Given the description of an element on the screen output the (x, y) to click on. 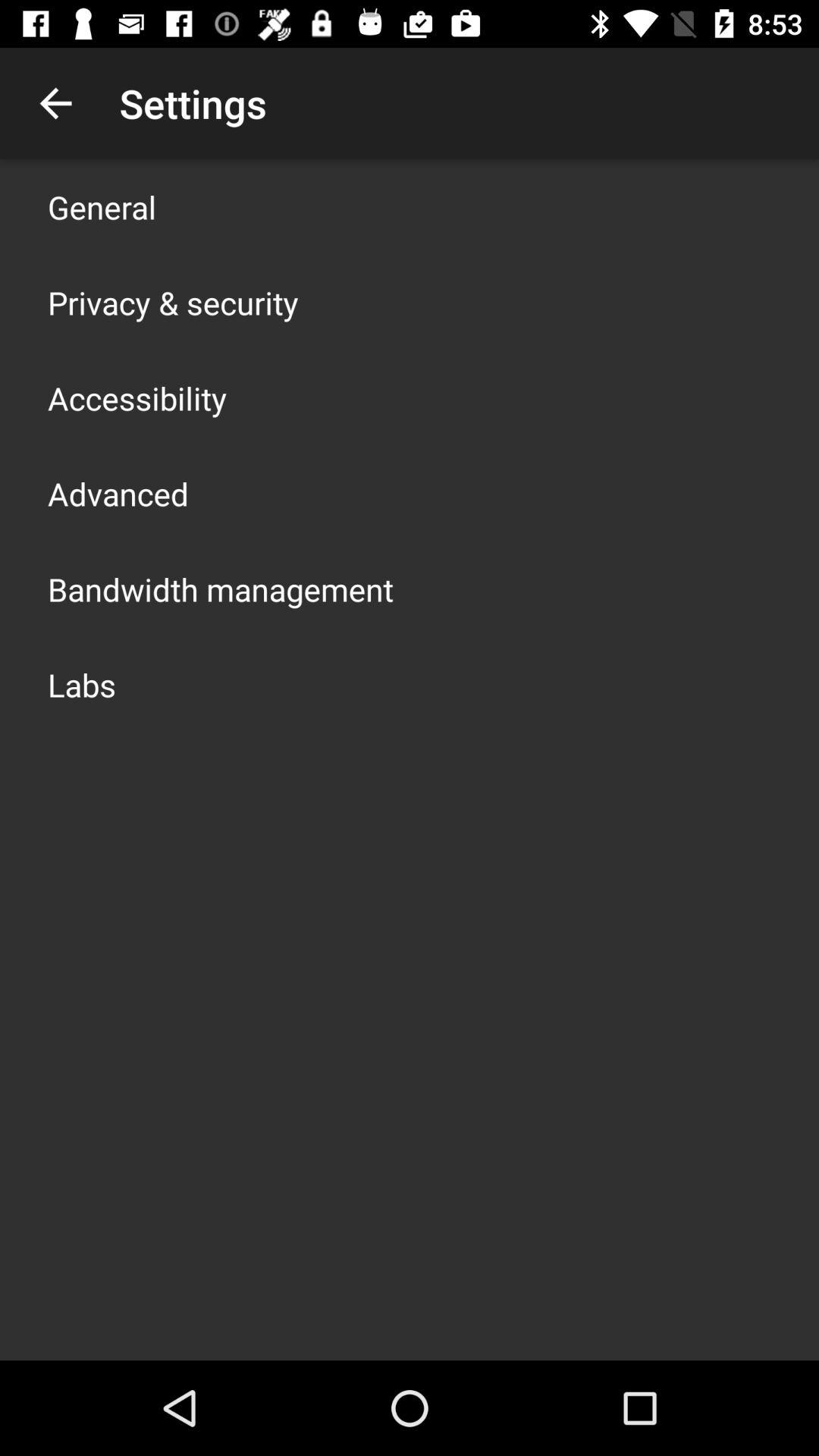
turn on the icon above bandwidth management app (117, 493)
